Given the description of an element on the screen output the (x, y) to click on. 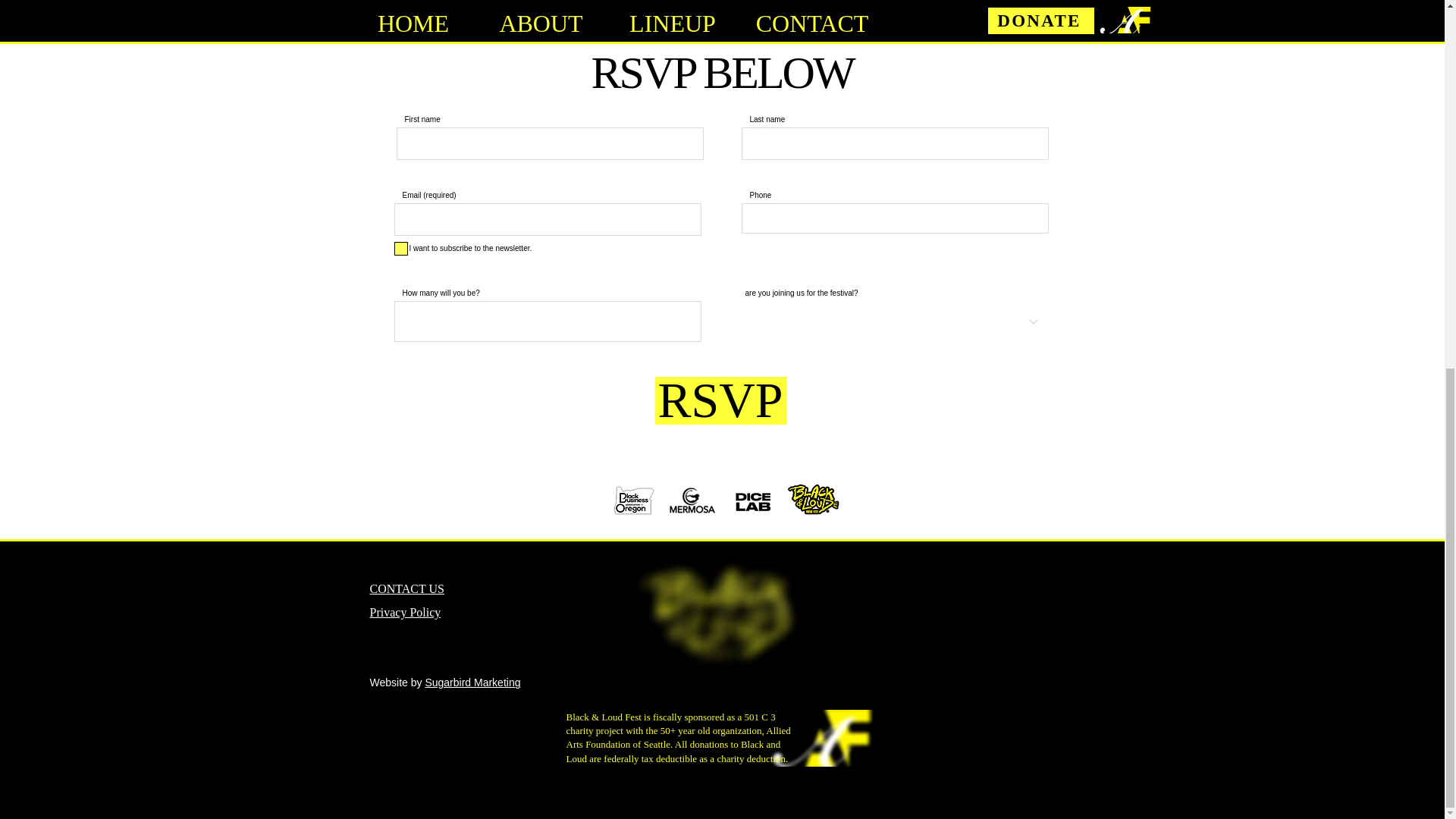
CONTACT US (406, 588)
Sugarbird Marketing (472, 682)
Privacy Policy (405, 612)
RSVP (720, 400)
